Given the description of an element on the screen output the (x, y) to click on. 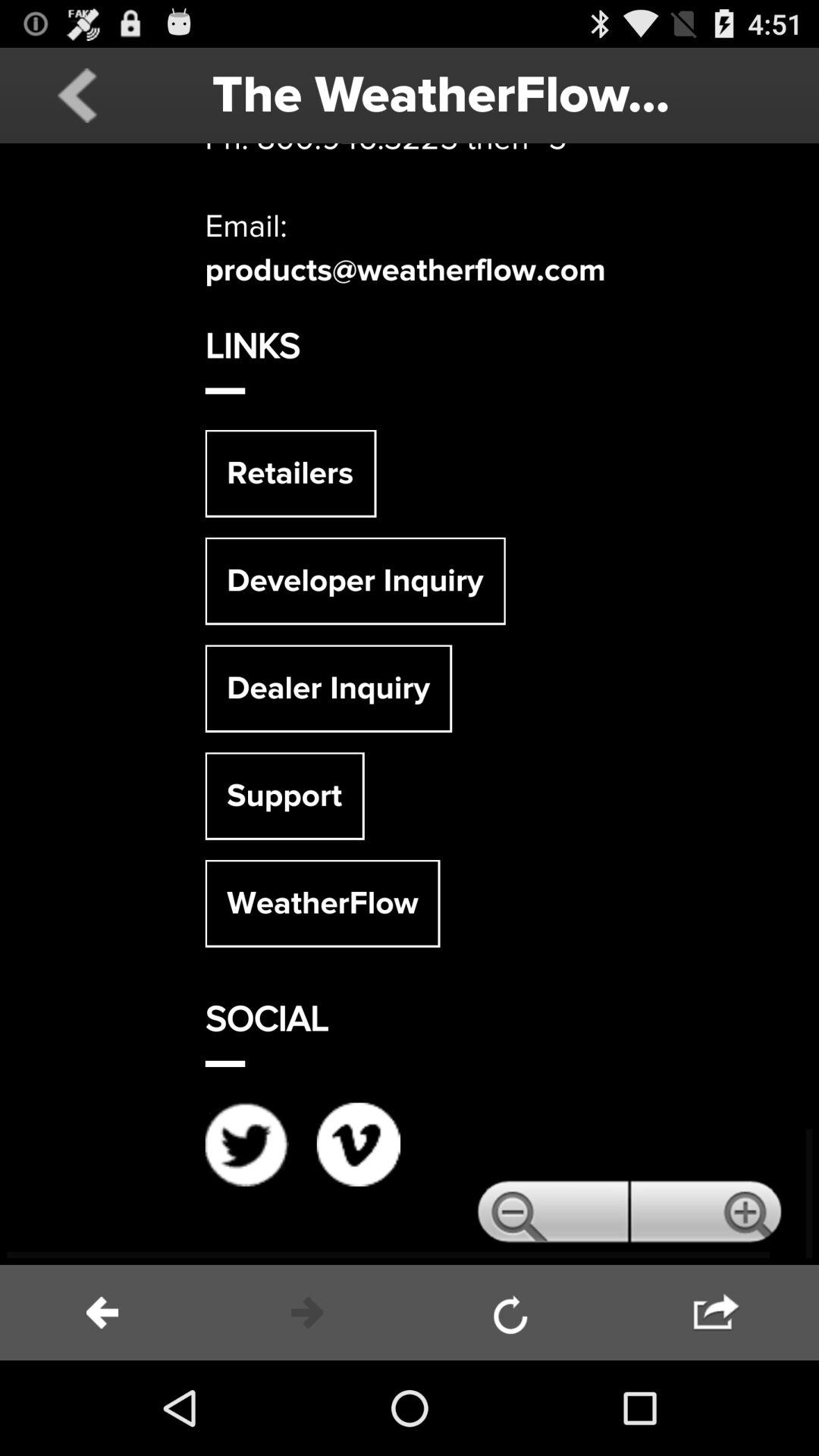
jump forward (716, 1312)
